Given the description of an element on the screen output the (x, y) to click on. 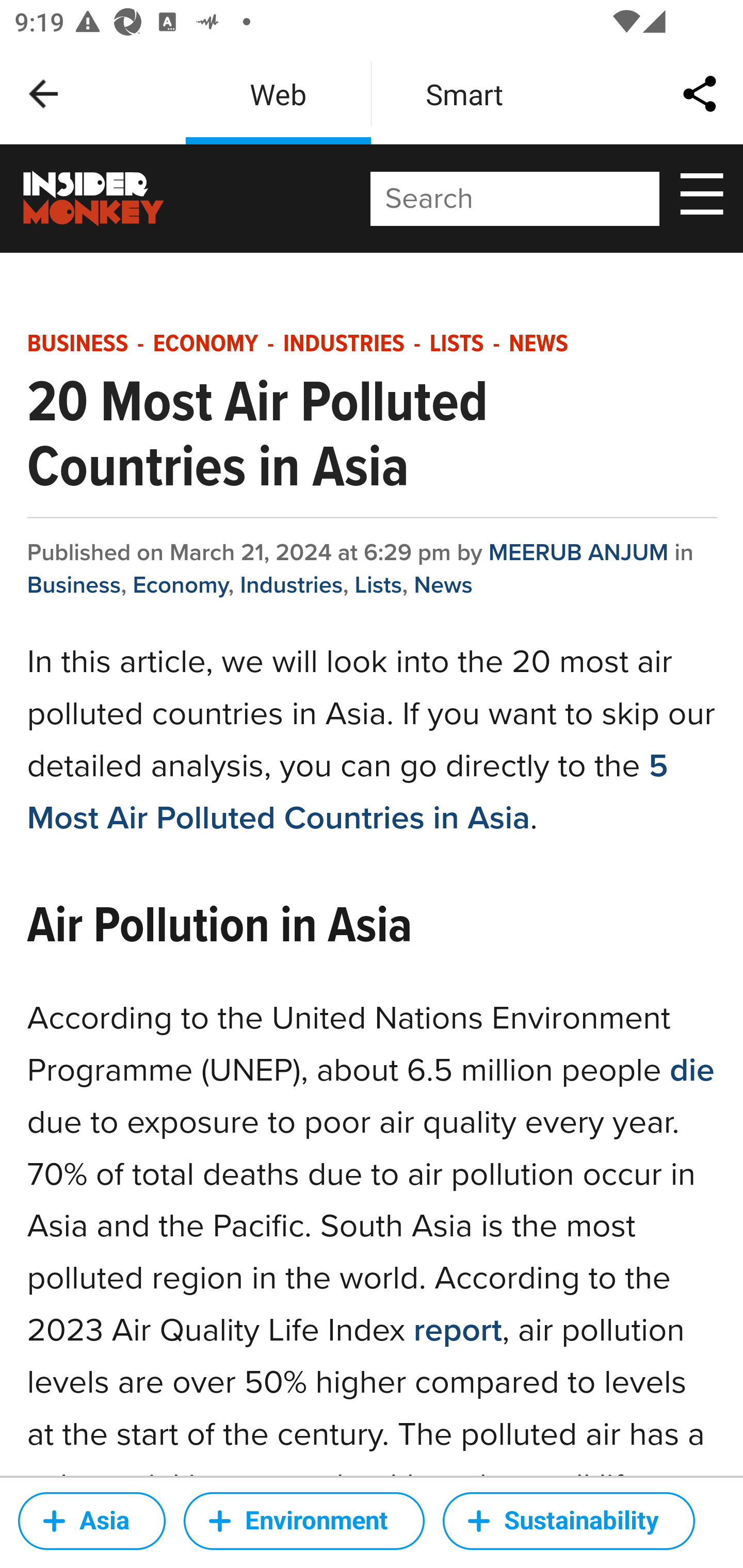
Web (277, 93)
Smart (464, 93)
Asia (91, 1520)
Environment (303, 1520)
Sustainability (568, 1520)
